Given the description of an element on the screen output the (x, y) to click on. 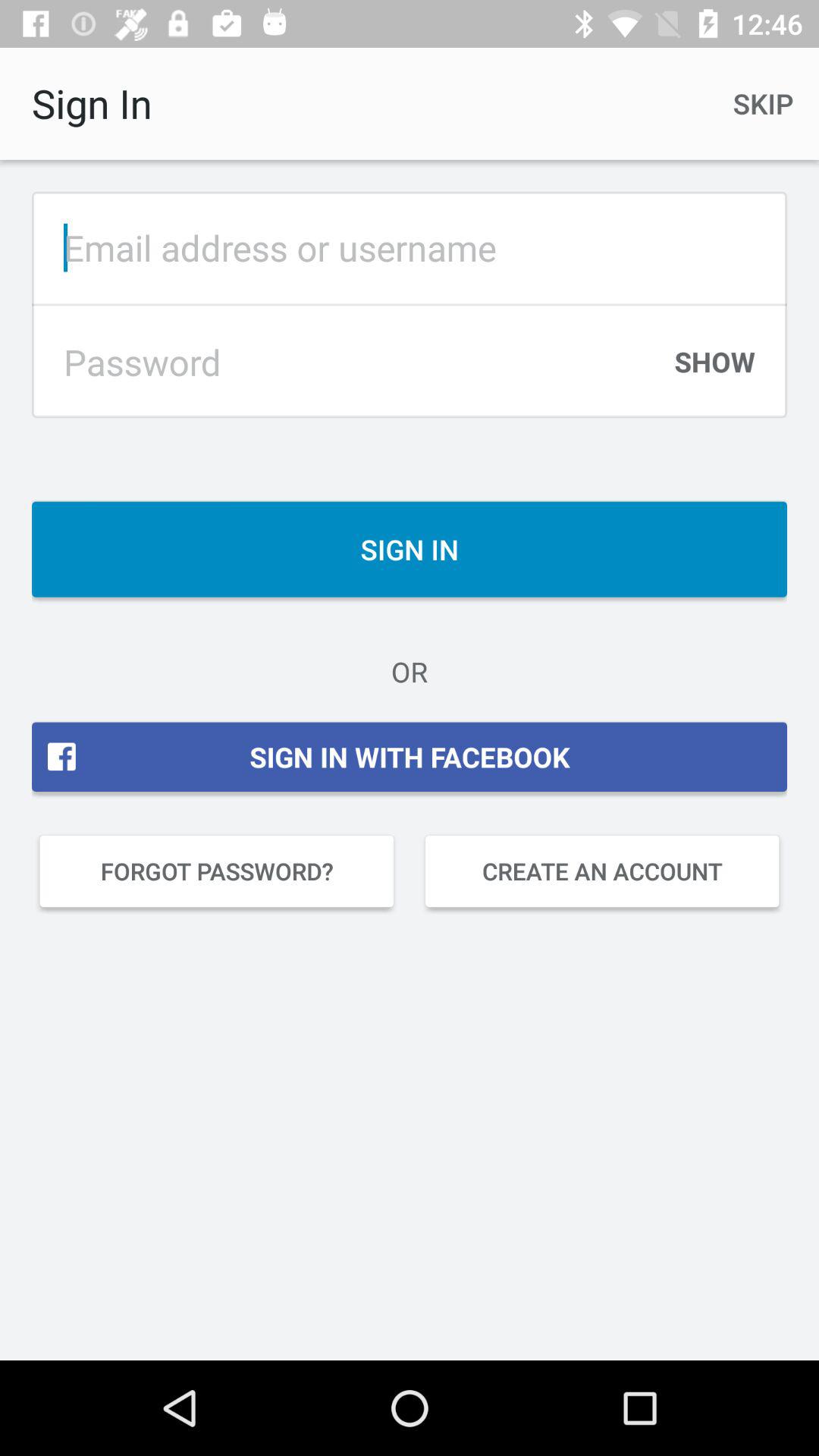
turn on show item (714, 369)
